Given the description of an element on the screen output the (x, y) to click on. 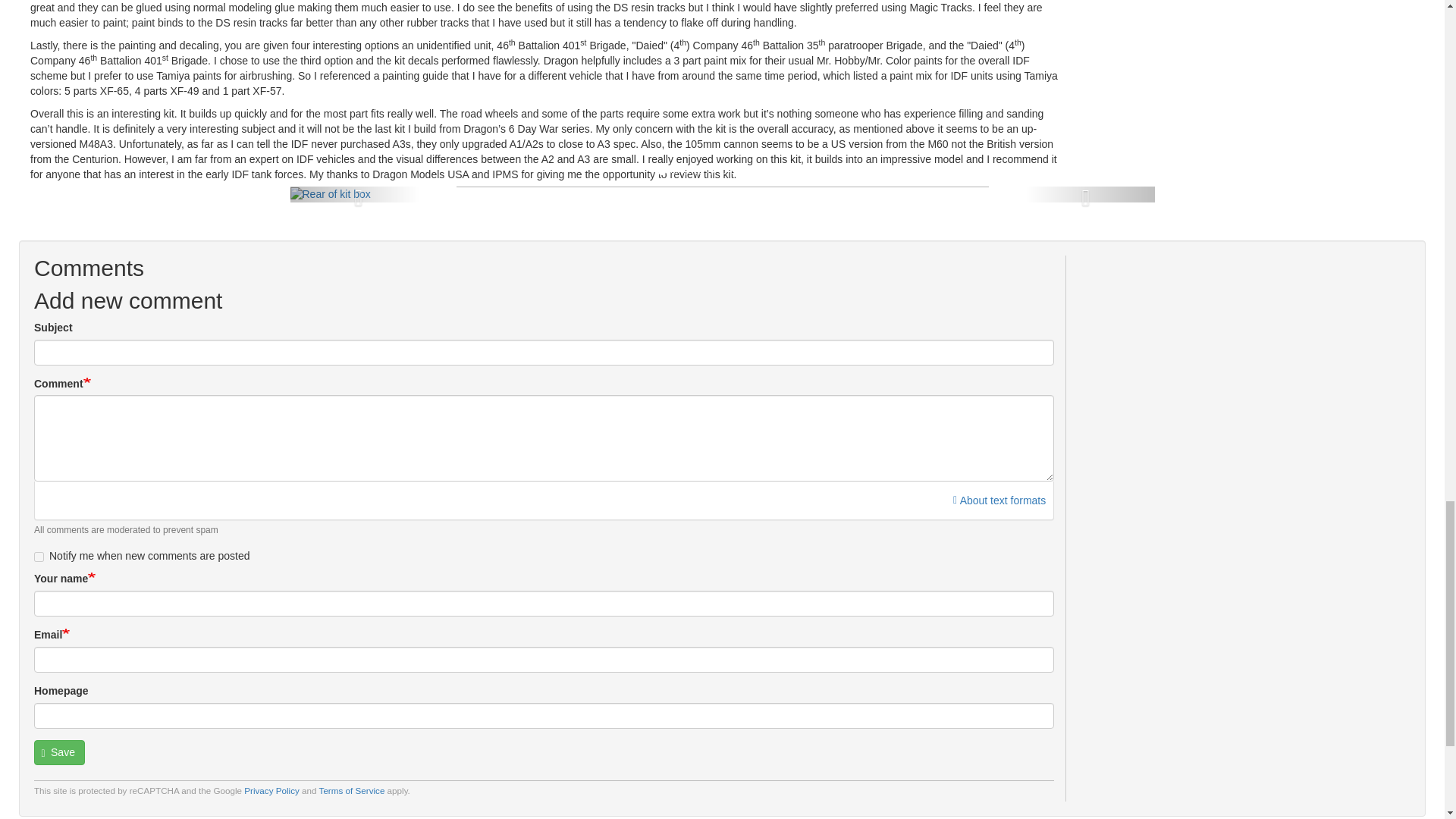
Rear of kit box (329, 193)
Rear of kit box (329, 194)
1 (38, 556)
